Given the description of an element on the screen output the (x, y) to click on. 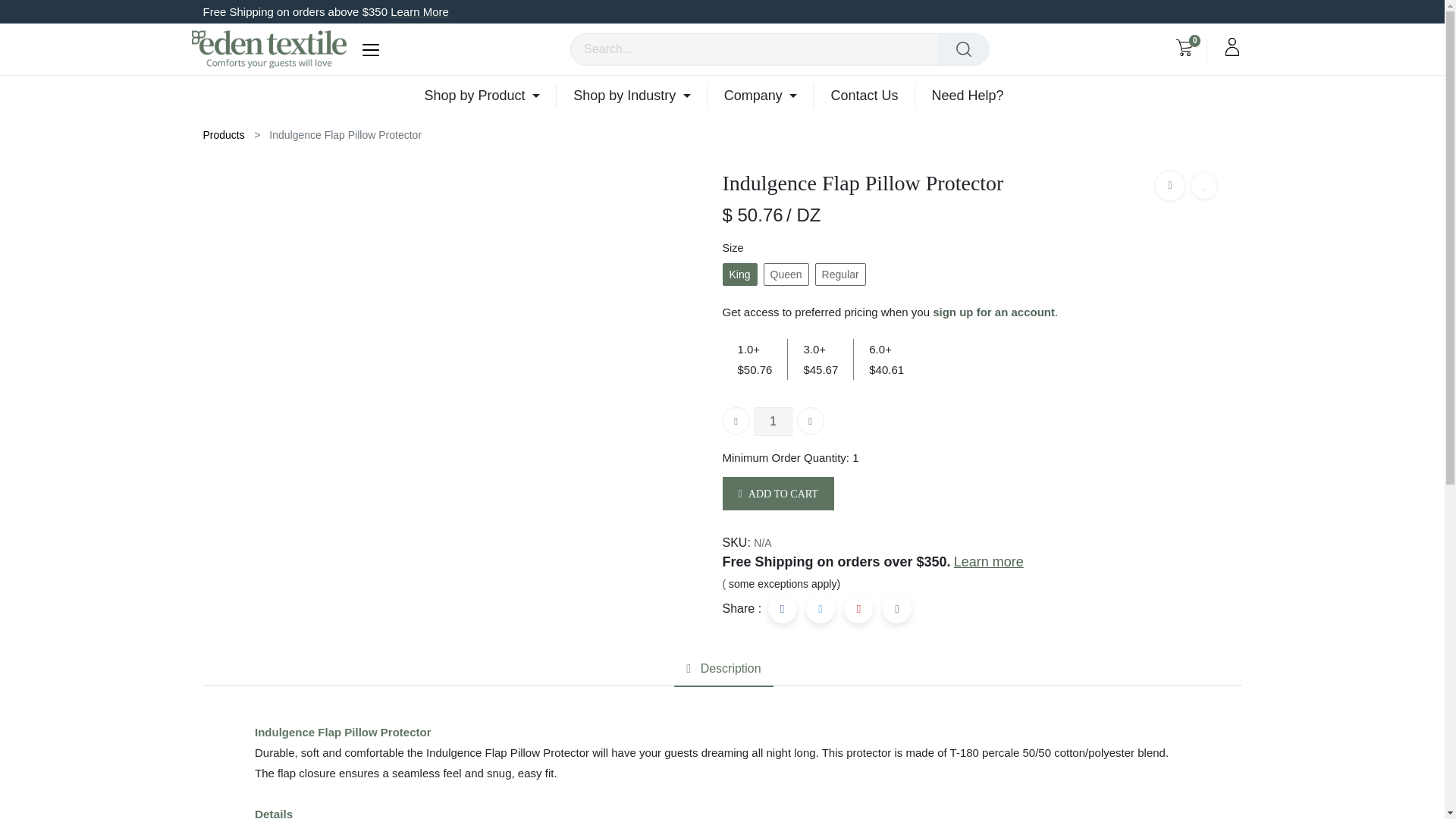
Shop by Product (489, 96)
Search (963, 49)
1 (773, 421)
Eden Textile (268, 48)
